Given the description of an element on the screen output the (x, y) to click on. 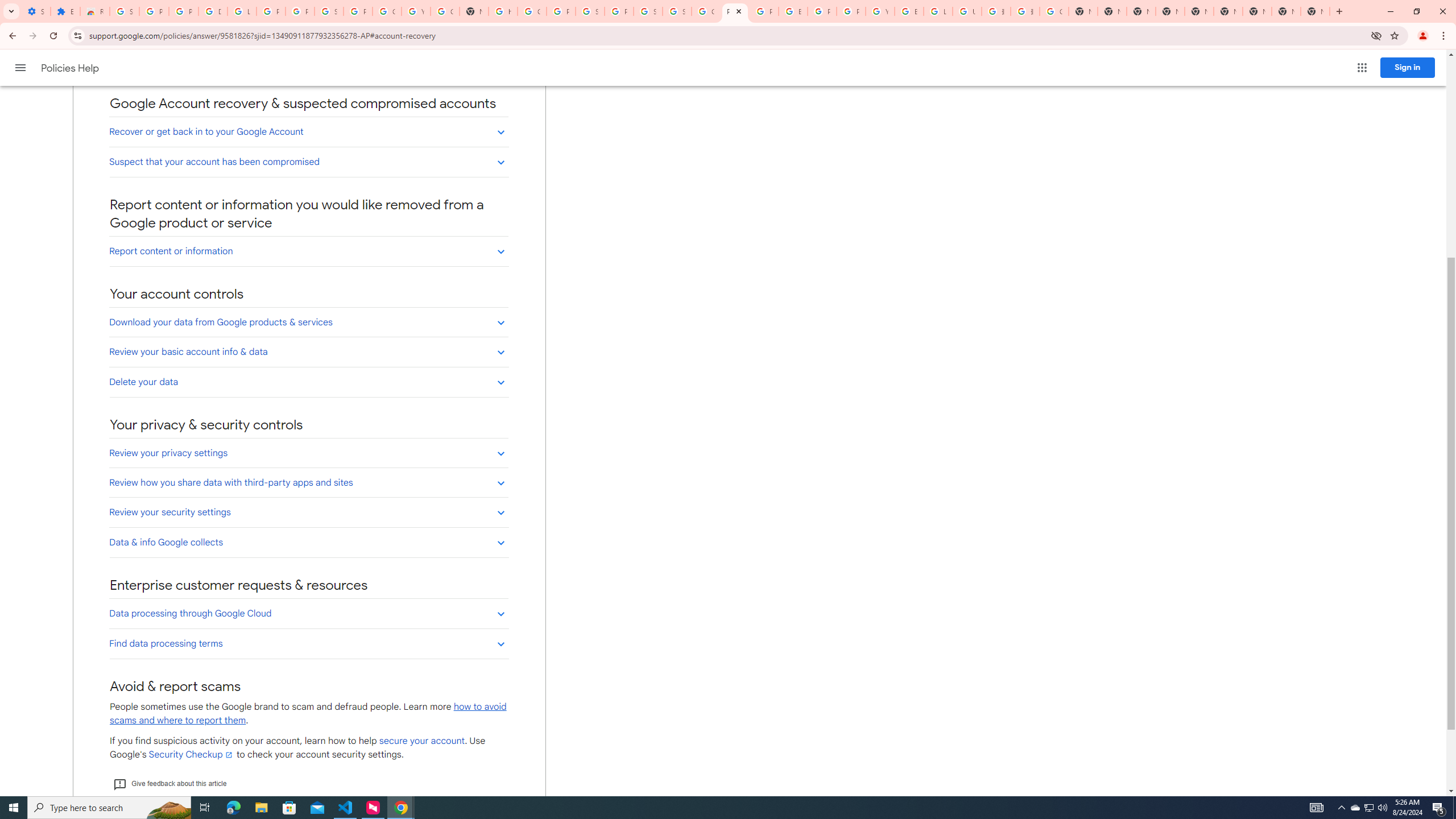
Google apps (1362, 67)
Sign in - Google Accounts (124, 11)
Sign in - Google Accounts (677, 11)
Privacy Help Center - Policies Help (734, 11)
Give feedback about this article (169, 783)
Settings - On startup (35, 11)
YouTube (415, 11)
Reviews: Helix Fruit Jump Arcade Game (95, 11)
YouTube (879, 11)
Report content or information (308, 250)
Sign in (1407, 67)
